Given the description of an element on the screen output the (x, y) to click on. 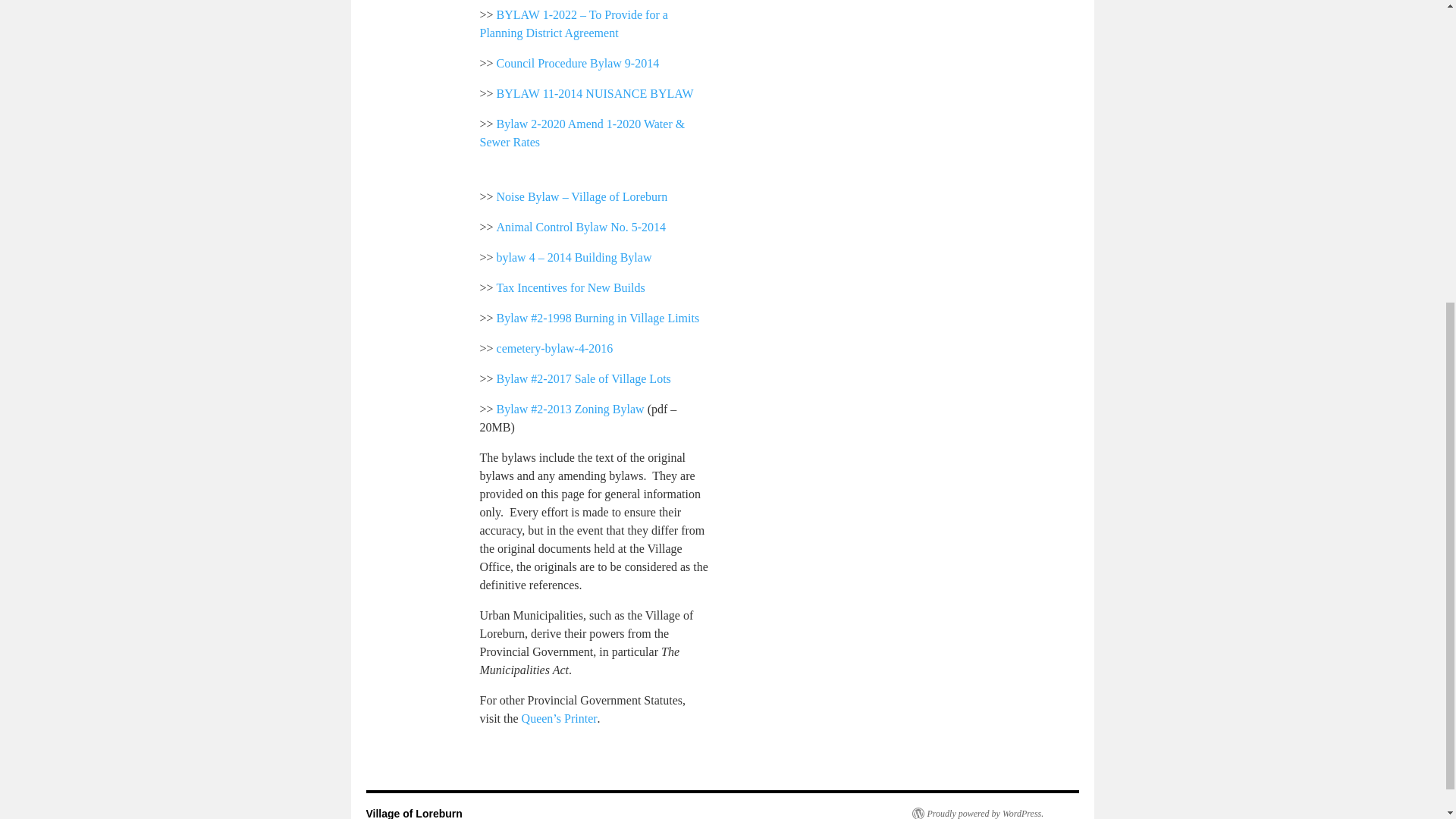
Council Procedure Bylaw 9-2014 (577, 66)
BYLAW 11-2014 NUISANCE BYLAW (595, 96)
Animal Control Bylaw No. 5-2014 (581, 230)
